Given the description of an element on the screen output the (x, y) to click on. 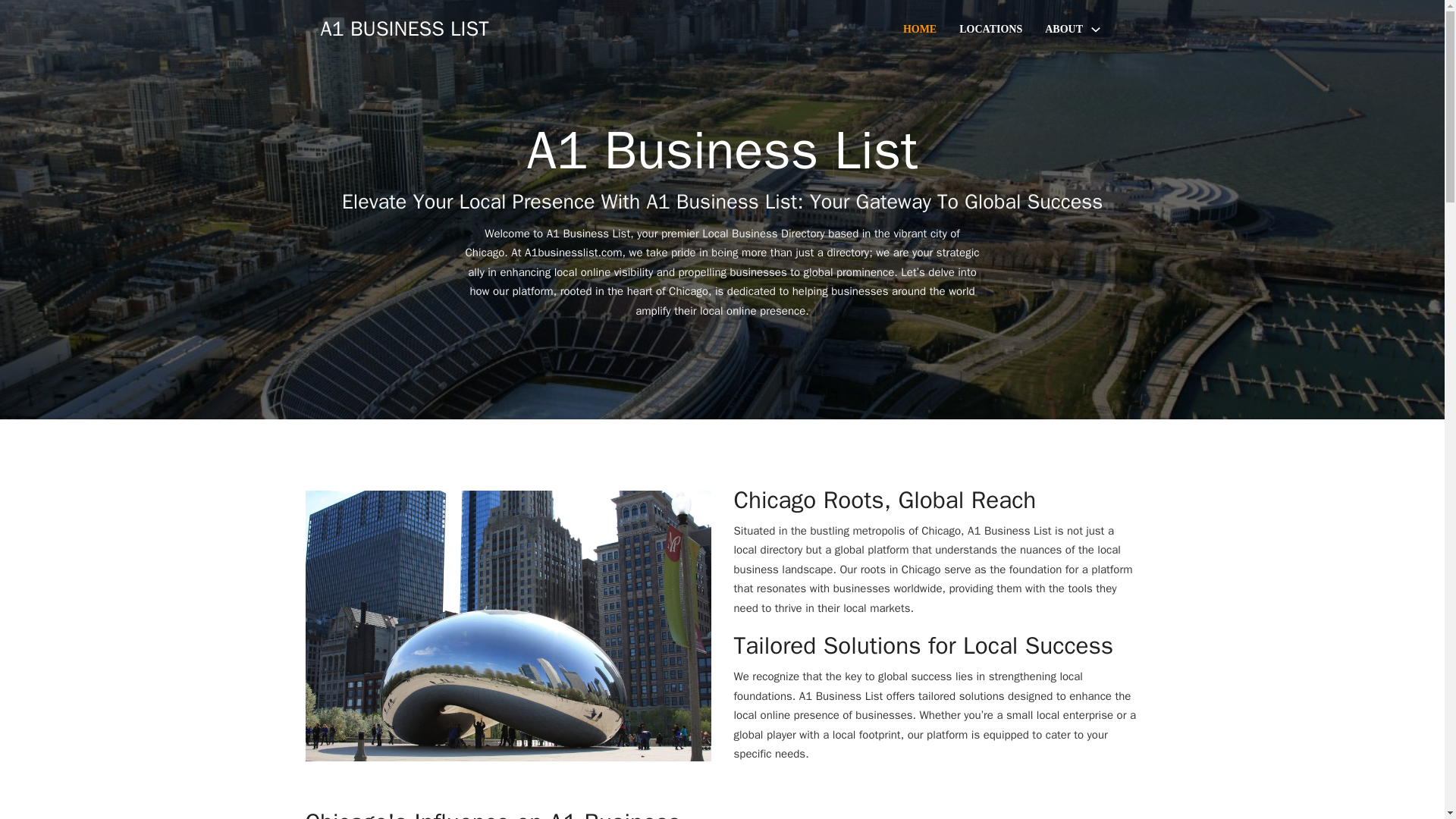
LOCATIONS (990, 29)
A1 BUSINESS LIST (403, 28)
HOME (919, 29)
